Given the description of an element on the screen output the (x, y) to click on. 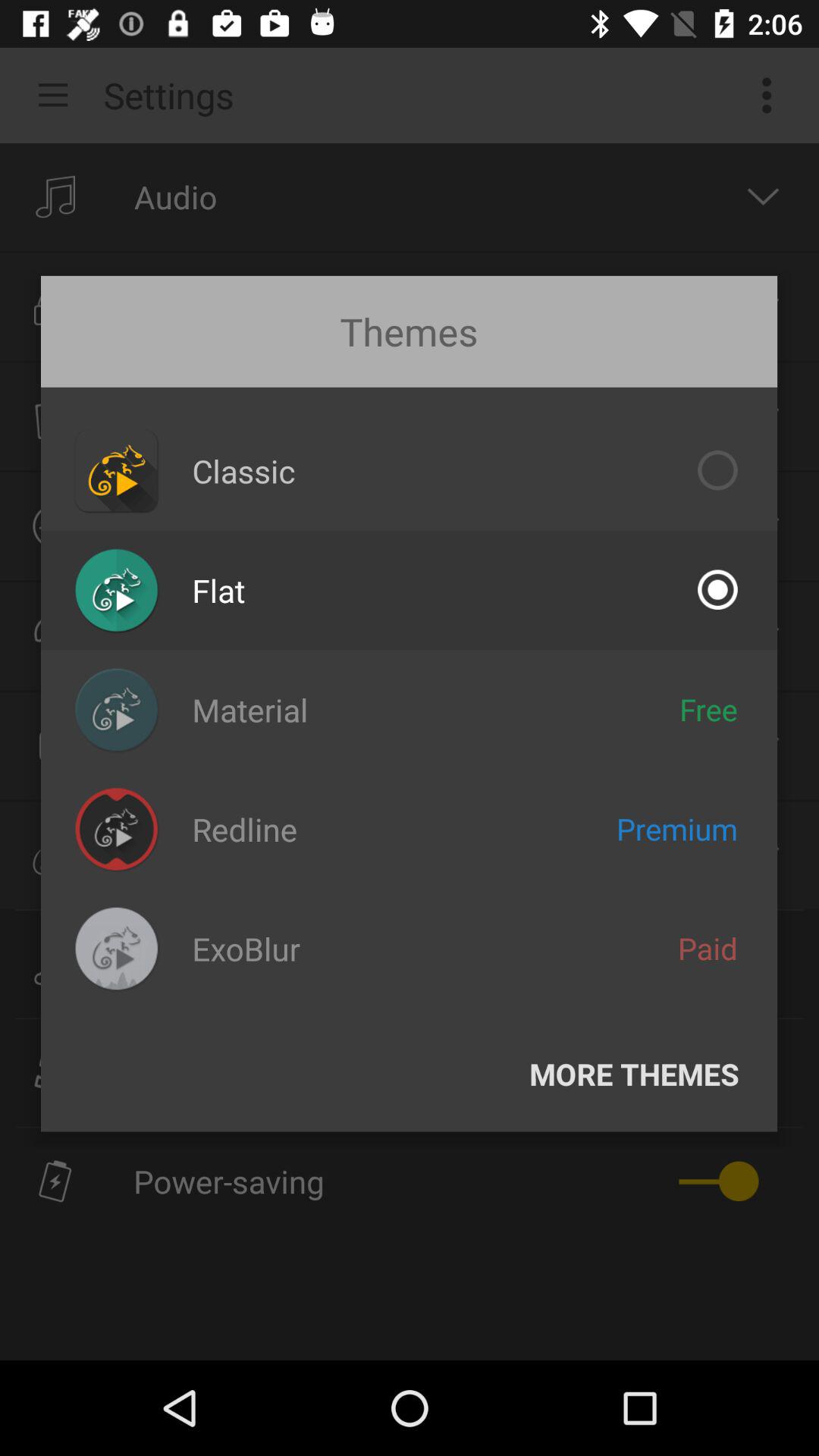
select icon above material (218, 589)
